Given the description of an element on the screen output the (x, y) to click on. 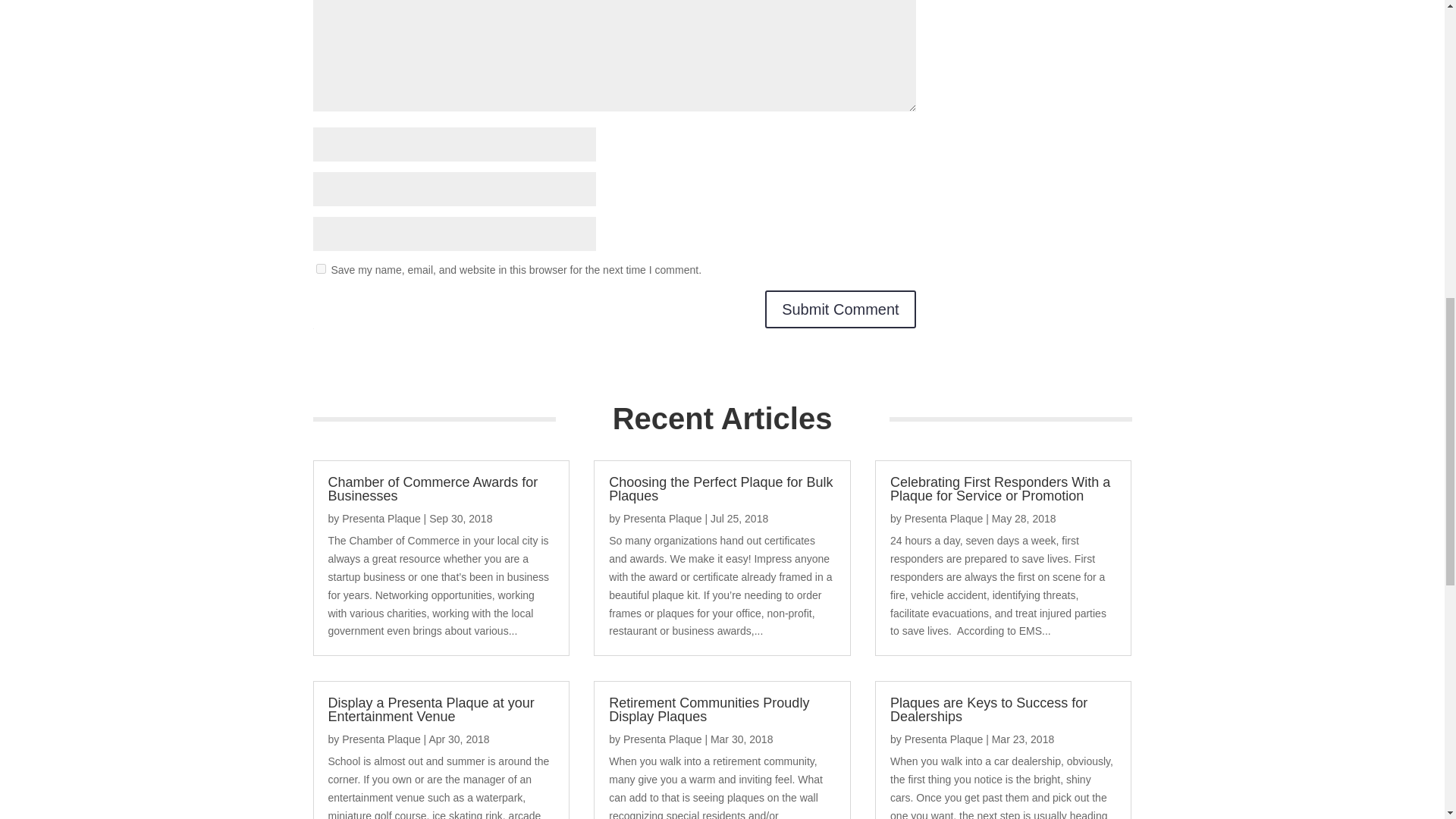
Choosing the Perfect Plaque for Bulk Plaques (720, 489)
Presenta Plaque (662, 739)
Presenta Plaque (381, 739)
yes (319, 268)
Posts by Presenta Plaque (662, 739)
Presenta Plaque (381, 518)
Presenta Plaque (662, 518)
Chamber of Commerce Awards for Businesses (432, 489)
Presenta Plaque (944, 518)
Display a Presenta Plaque at your Entertainment Venue (430, 709)
